Given the description of an element on the screen output the (x, y) to click on. 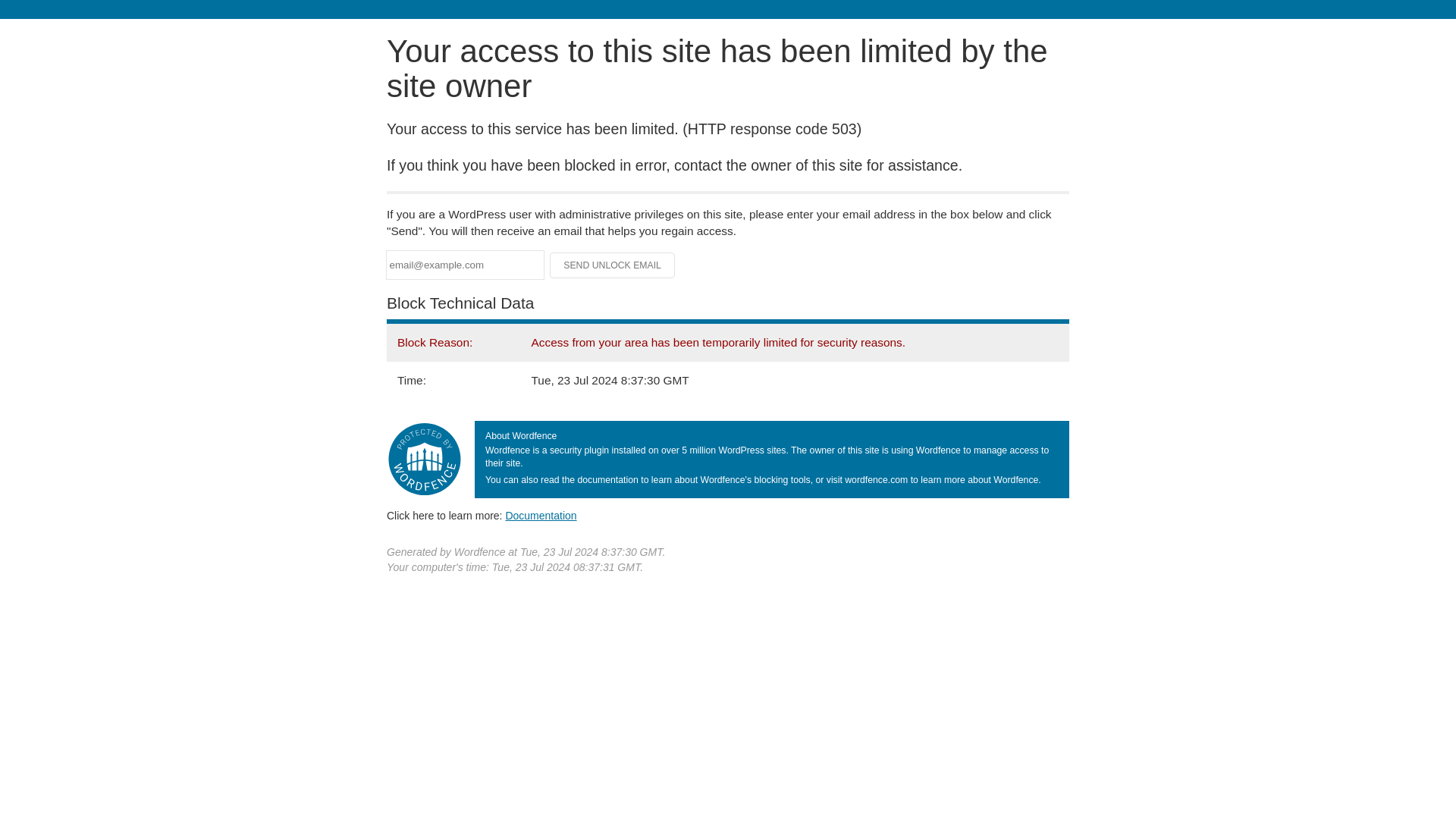
Send Unlock Email (612, 265)
Send Unlock Email (612, 265)
Documentation (540, 515)
